Given the description of an element on the screen output the (x, y) to click on. 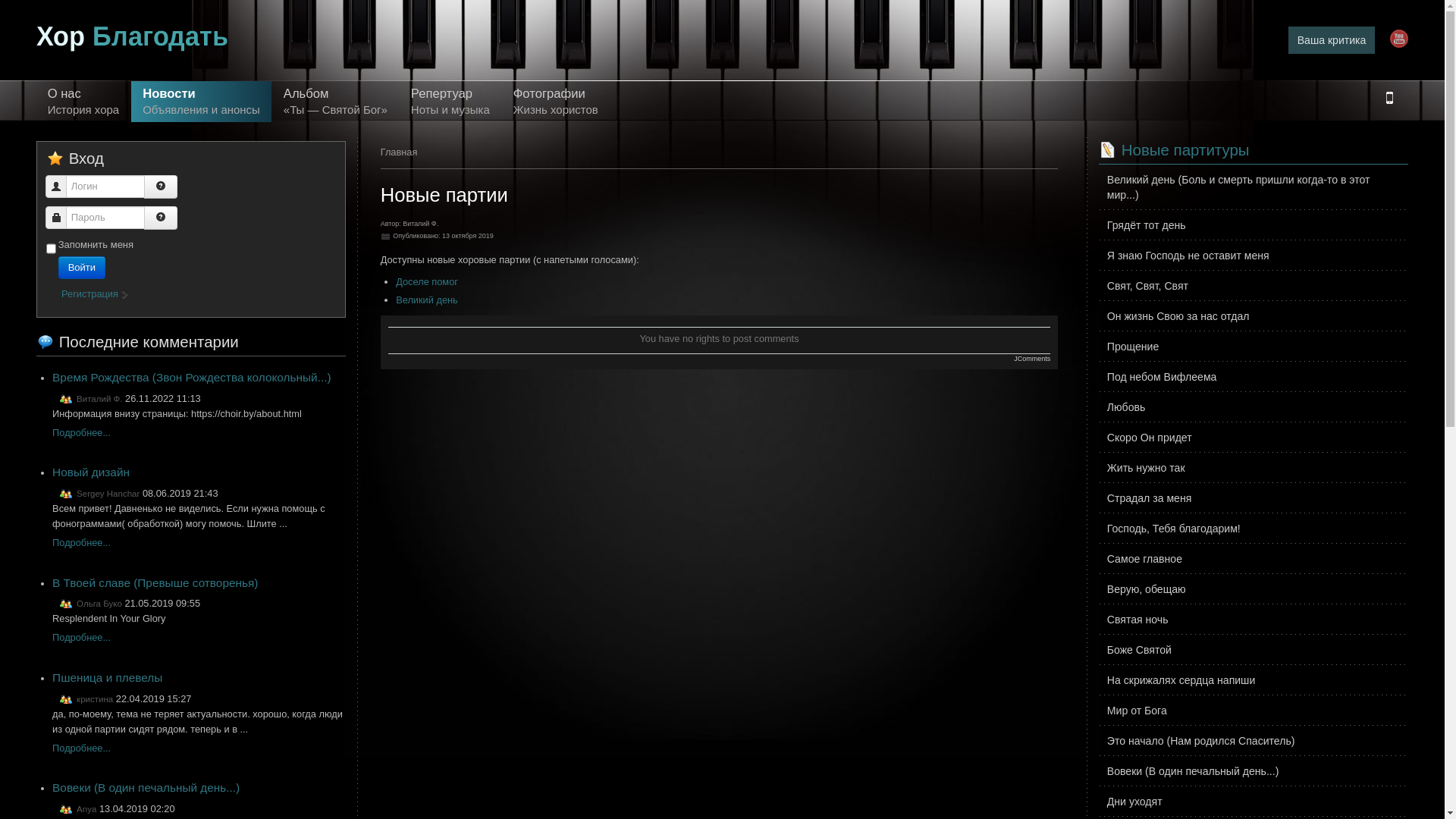
YouTube Element type: text (1399, 38)
JComments Element type: text (1031, 358)
